Given the description of an element on the screen output the (x, y) to click on. 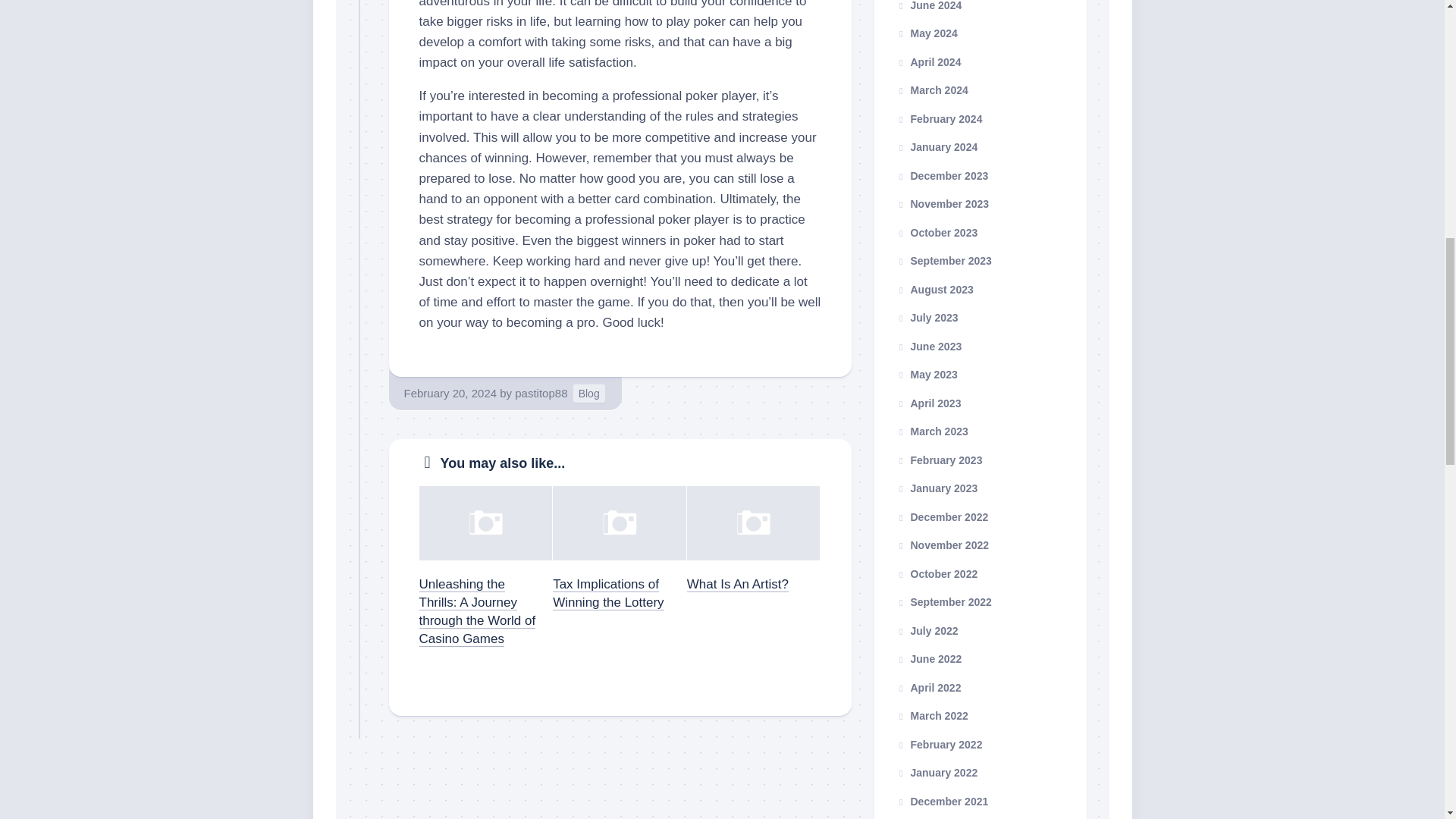
Posts by pastitop88 (541, 392)
Tax Implications of Winning the Lottery (608, 593)
April 2024 (928, 61)
What Is An Artist? (738, 584)
February 2024 (938, 118)
Blog (589, 393)
June 2024 (928, 5)
pastitop88 (541, 392)
May 2024 (926, 33)
